Given the description of an element on the screen output the (x, y) to click on. 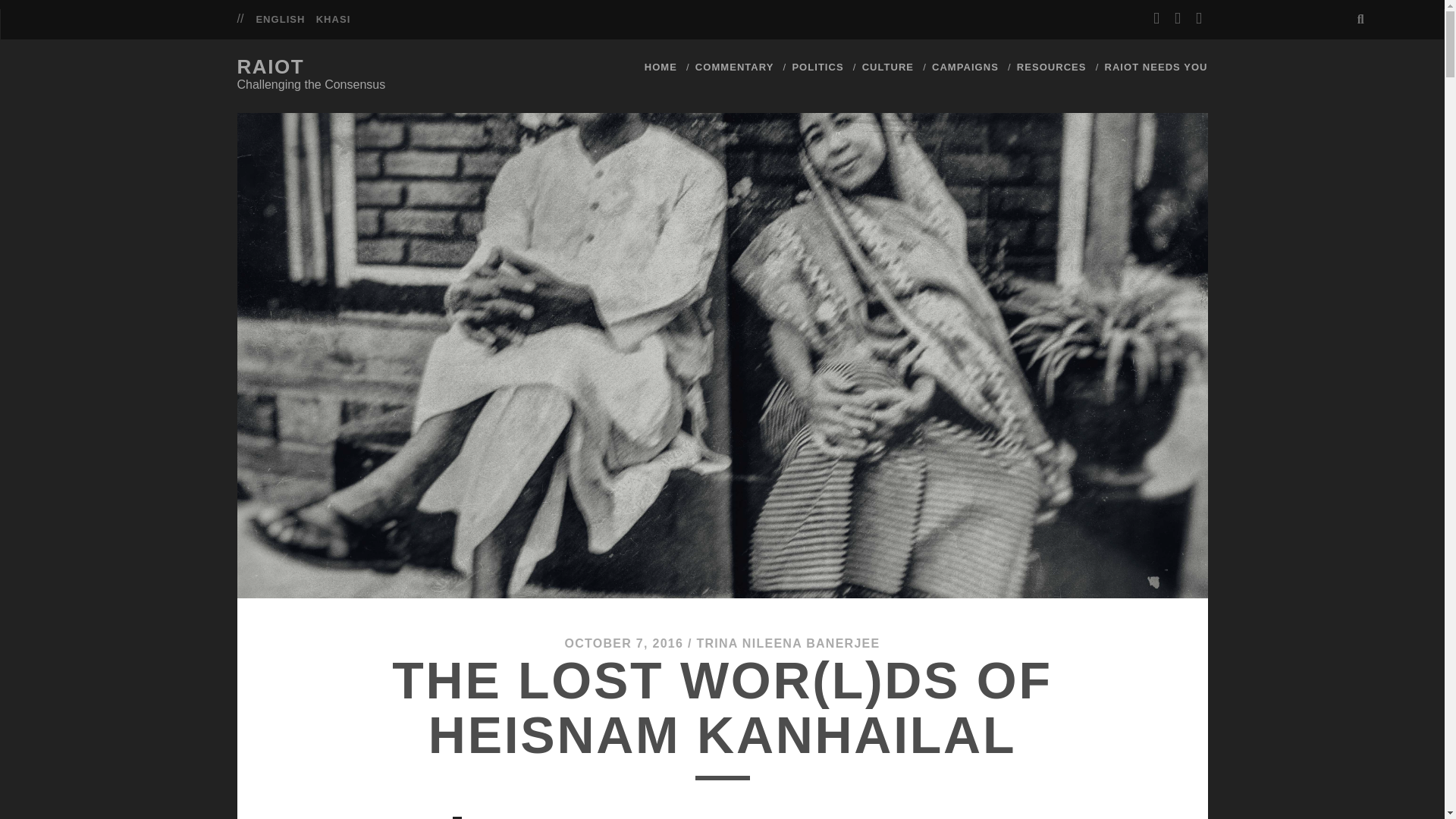
TRINA NILEENA BANERJEE (787, 643)
RAIOT (269, 66)
RAIOT NEEDS YOU (1155, 67)
HOME (661, 67)
Posts by Trina Nileena Banerjee (787, 643)
POLITICS (817, 67)
KHASI (332, 19)
COMMENTARY (734, 67)
ENGLISH (280, 19)
CULTURE (887, 67)
RESOURCES (1051, 67)
CAMPAIGNS (964, 67)
